Given the description of an element on the screen output the (x, y) to click on. 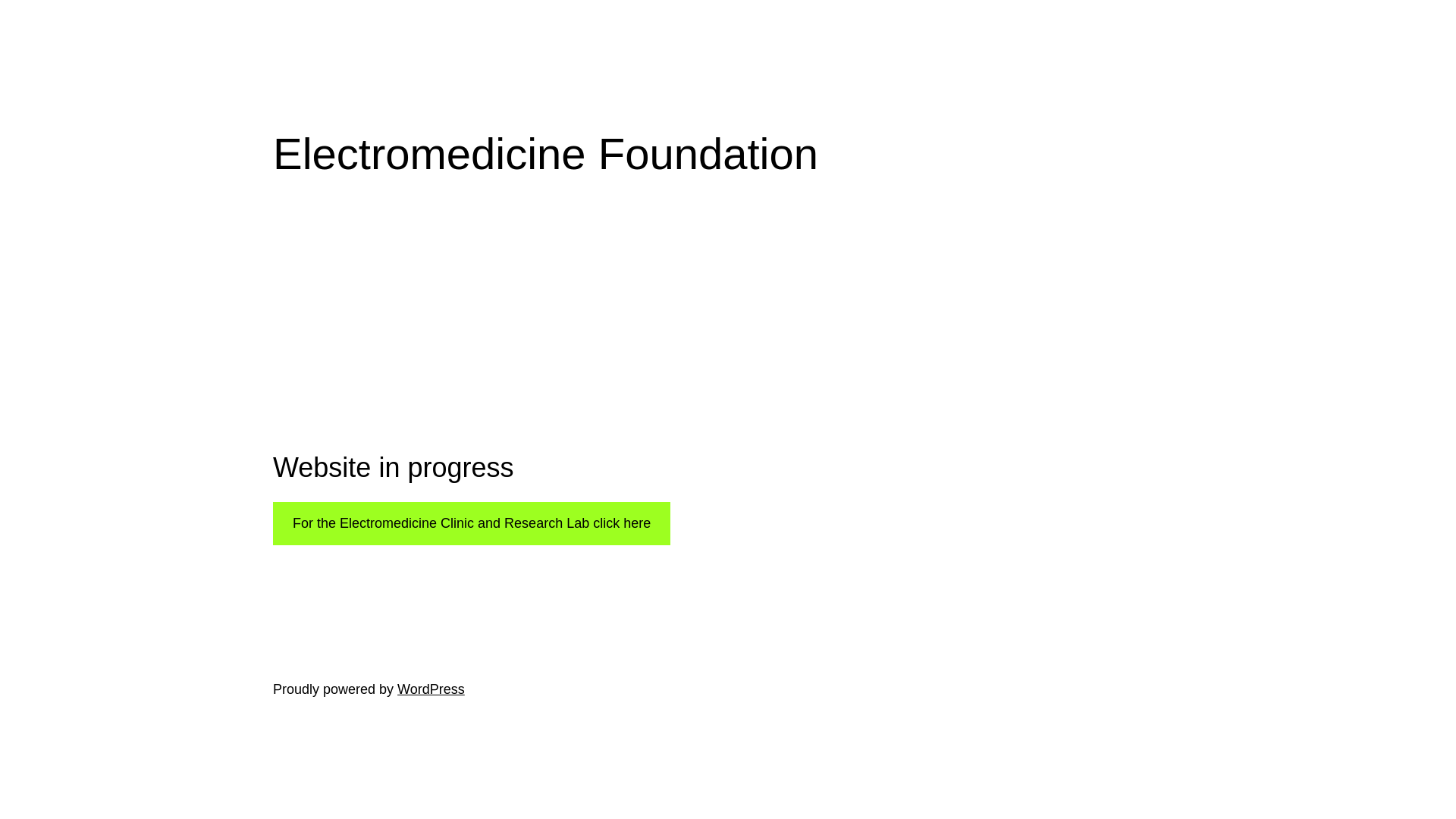
For the Electromedicine Clinic and Research Lab click here Element type: text (471, 523)
WordPress Element type: text (430, 688)
